Given the description of an element on the screen output the (x, y) to click on. 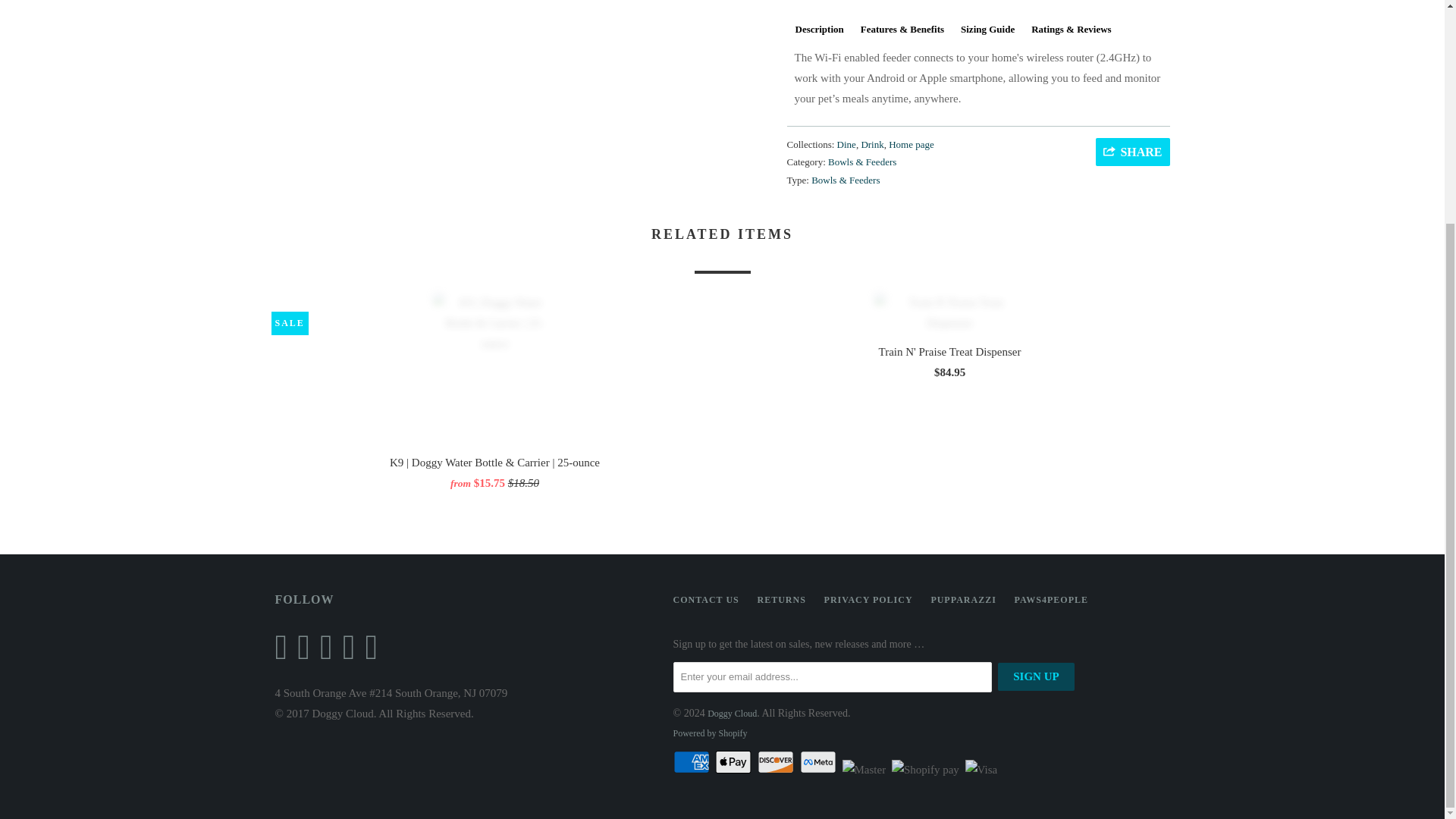
Dine (846, 143)
Sign Up (1035, 676)
Home page (911, 143)
Drink (871, 143)
